Given the description of an element on the screen output the (x, y) to click on. 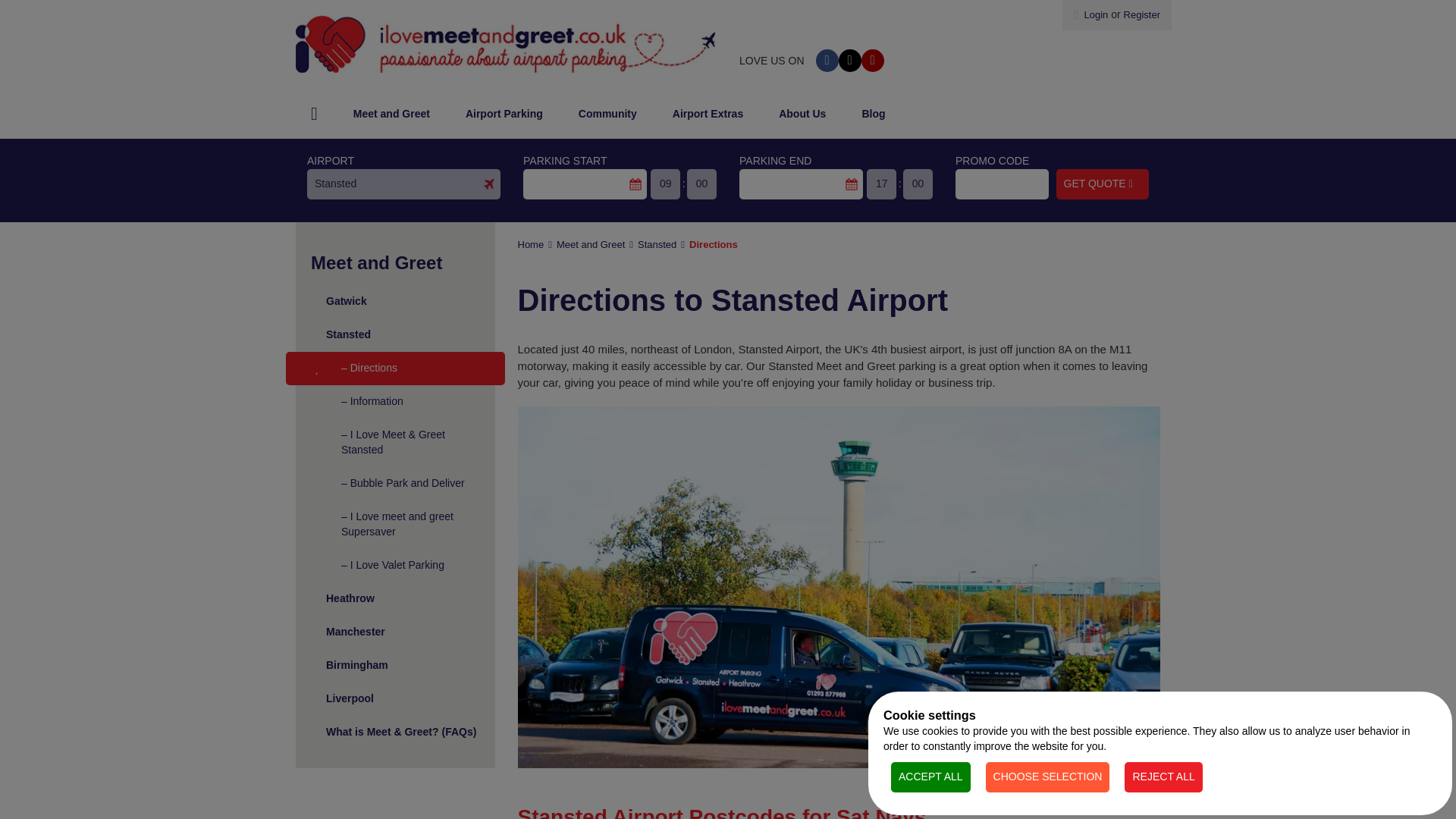
Register (1142, 14)
Meet and Greet (391, 114)
Login (1091, 14)
Community (607, 114)
Airport Parking (503, 114)
